Given the description of an element on the screen output the (x, y) to click on. 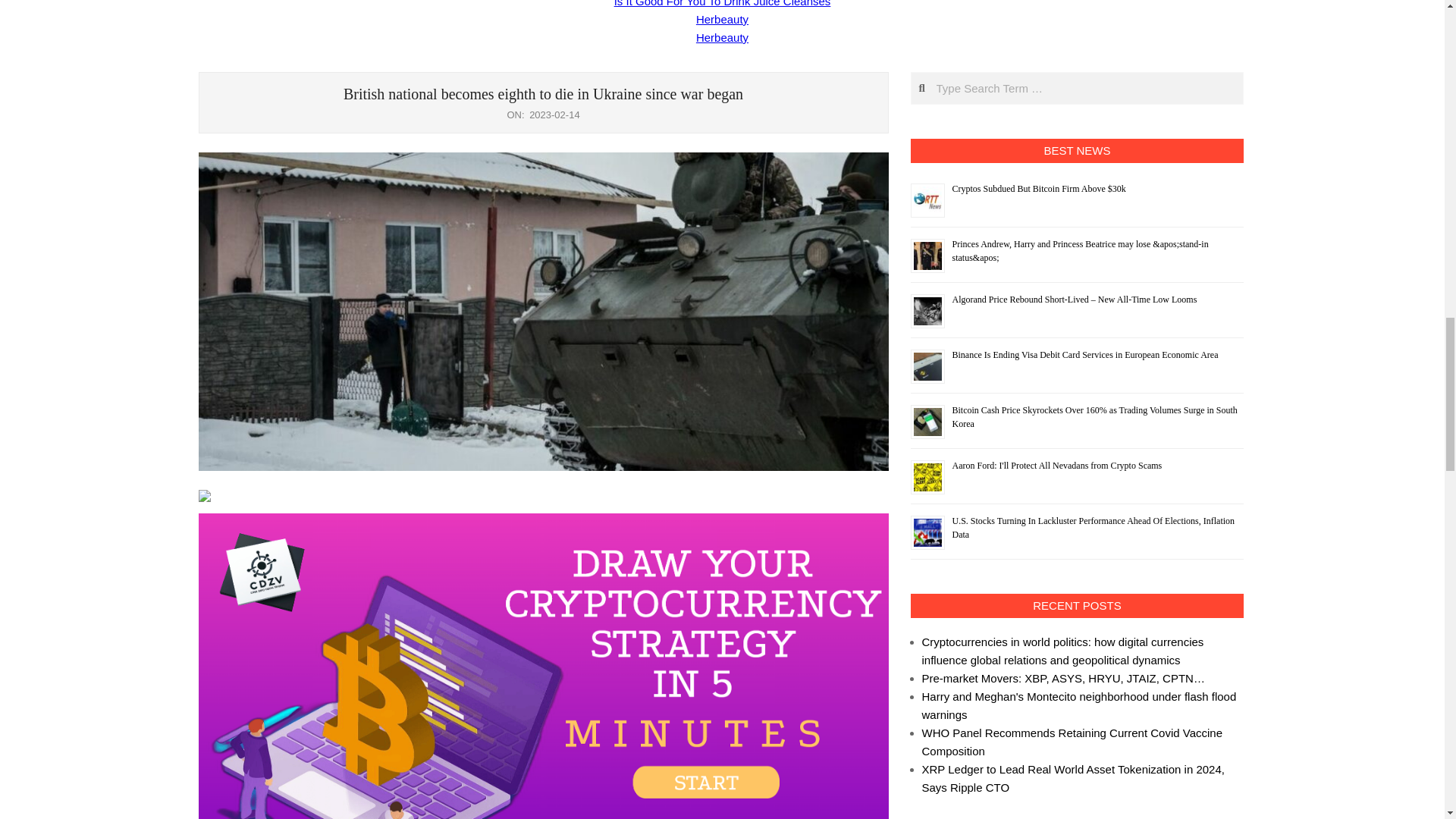
Tuesday, February 14, 2023, 6:07 pm (554, 114)
Aaron Ford: I'll Protect All Nevadans from Crypto Scams (1056, 465)
